Given the description of an element on the screen output the (x, y) to click on. 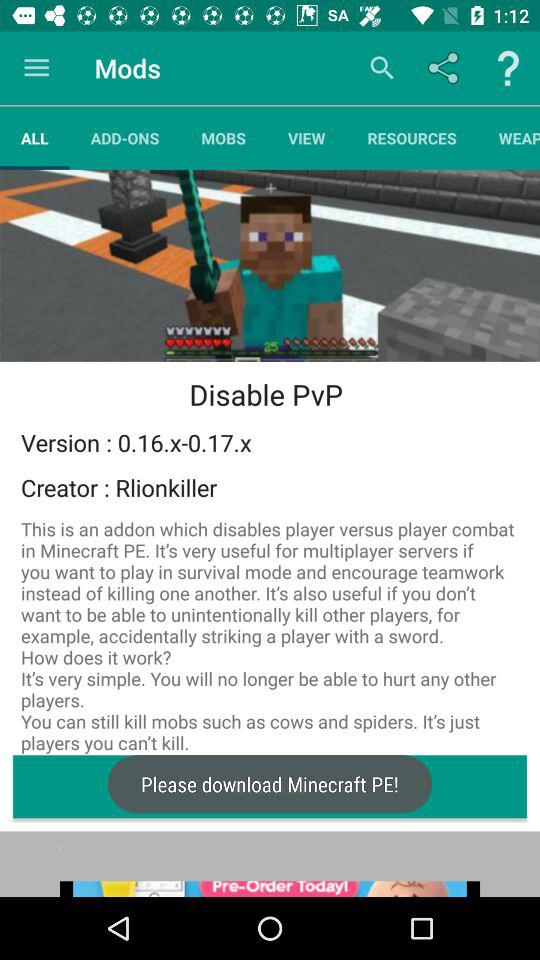
ask question (508, 67)
